Given the description of an element on the screen output the (x, y) to click on. 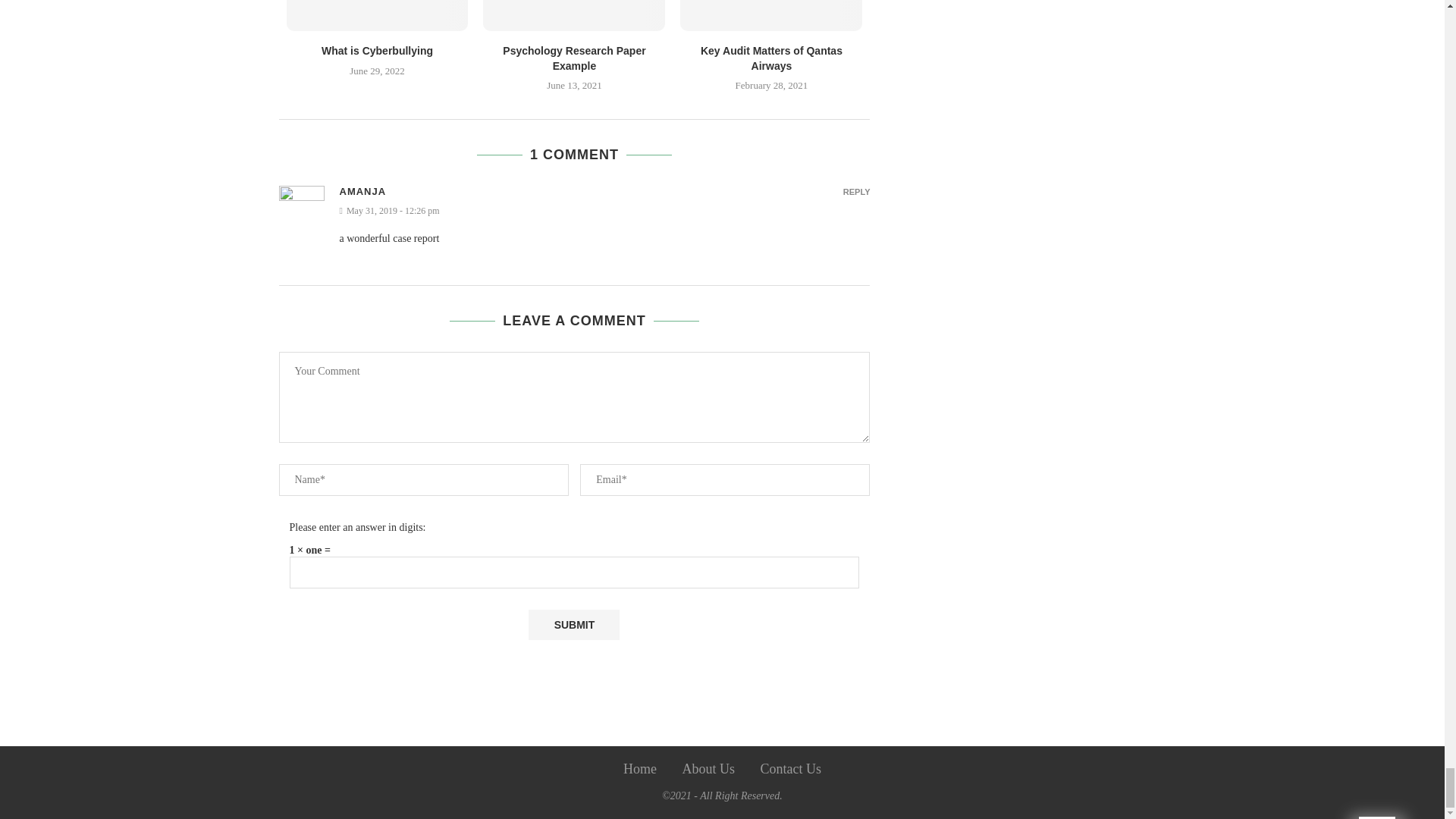
What is Cyberbullying (376, 50)
Friday, May 31, 2019, 12:26 pm (604, 211)
Key Audit Matters of Qantas Airways (770, 15)
Psychology Research Paper Example (574, 15)
Submit (574, 624)
What is Cyberbullying (377, 15)
